Given the description of an element on the screen output the (x, y) to click on. 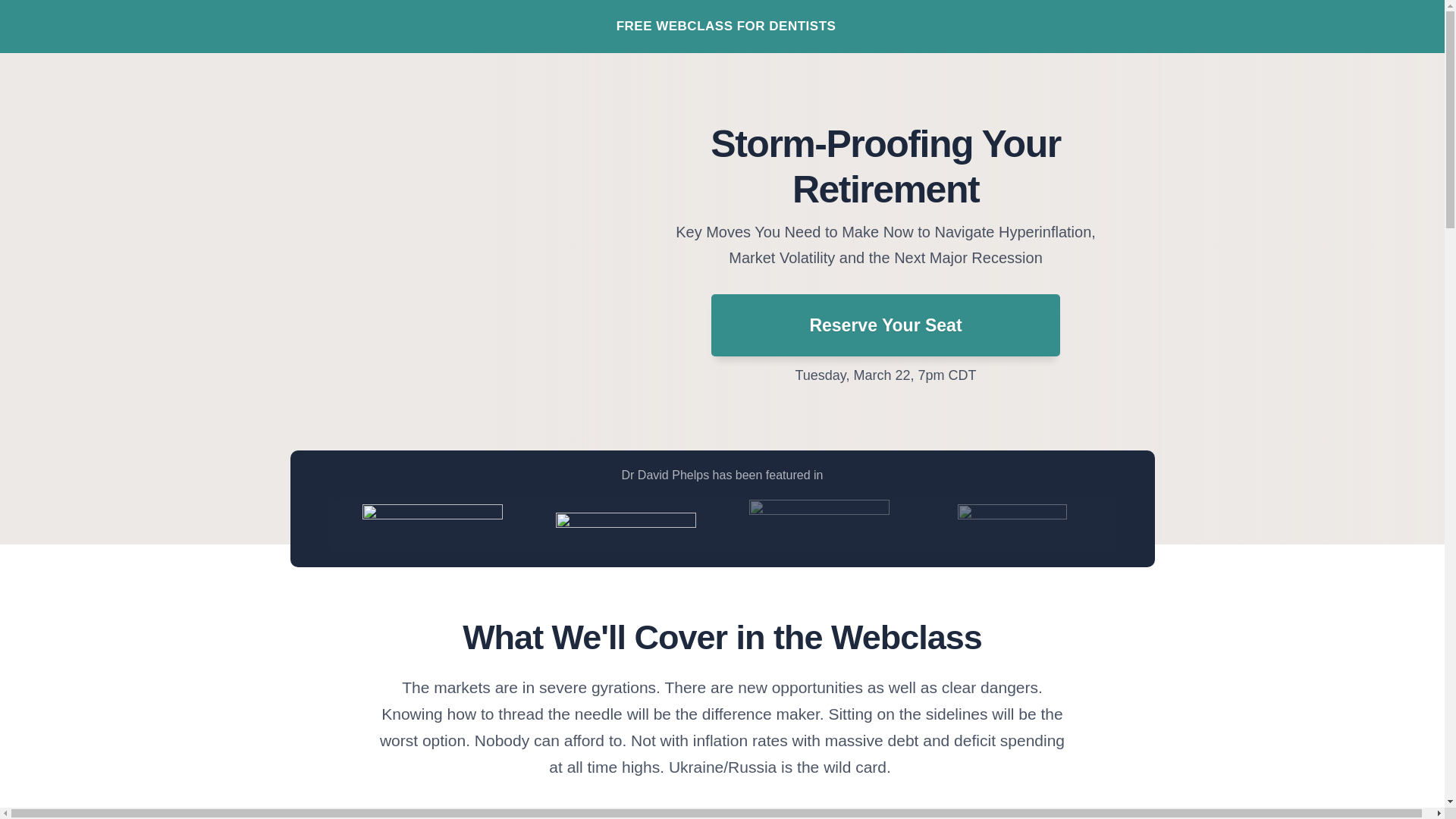
jazz-entrepreneur (432, 525)
Pro-Ortho-David-Phelps-Inverted (819, 524)
inman-logo-inverted (1012, 522)
Reserve Your Seat (885, 325)
